Given the description of an element on the screen output the (x, y) to click on. 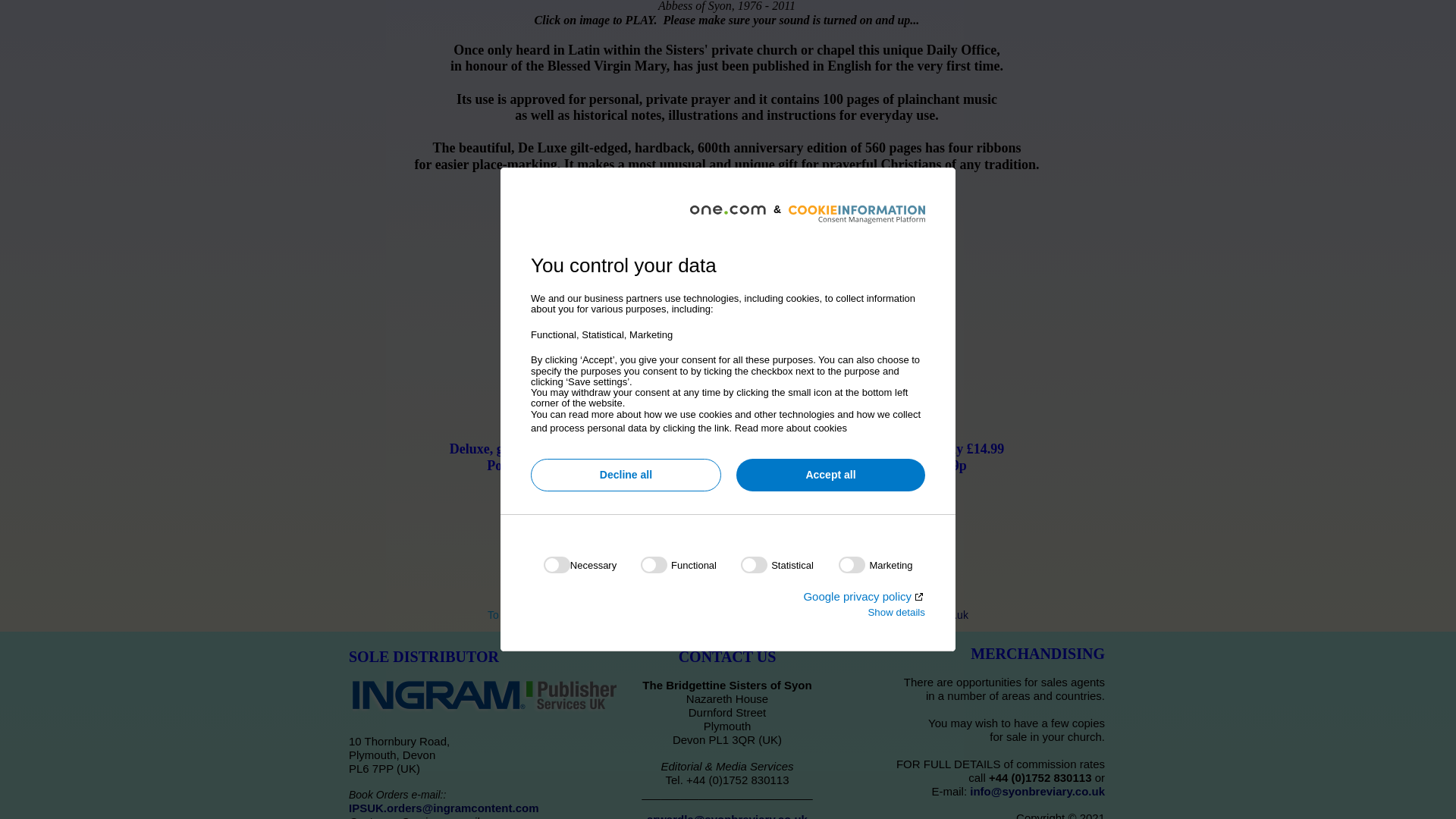
Marketing (723, 85)
Unclassified (723, 176)
Statistical (723, 11)
